Given the description of an element on the screen output the (x, y) to click on. 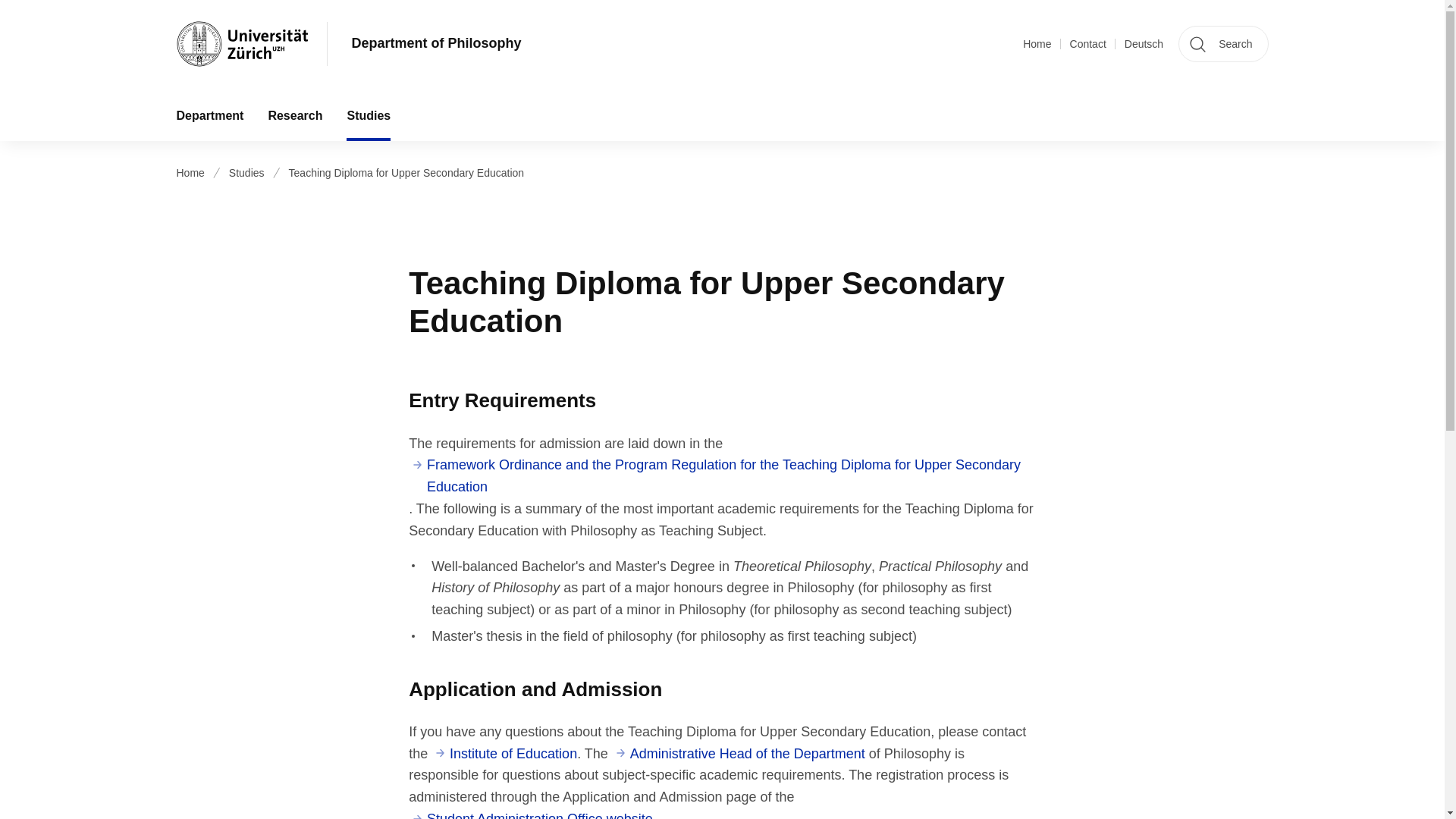
Contact (1088, 44)
Deutsch (1143, 44)
Department of Philosophy (436, 43)
Department (209, 115)
Search (1222, 43)
Home (1037, 44)
